Given the description of an element on the screen output the (x, y) to click on. 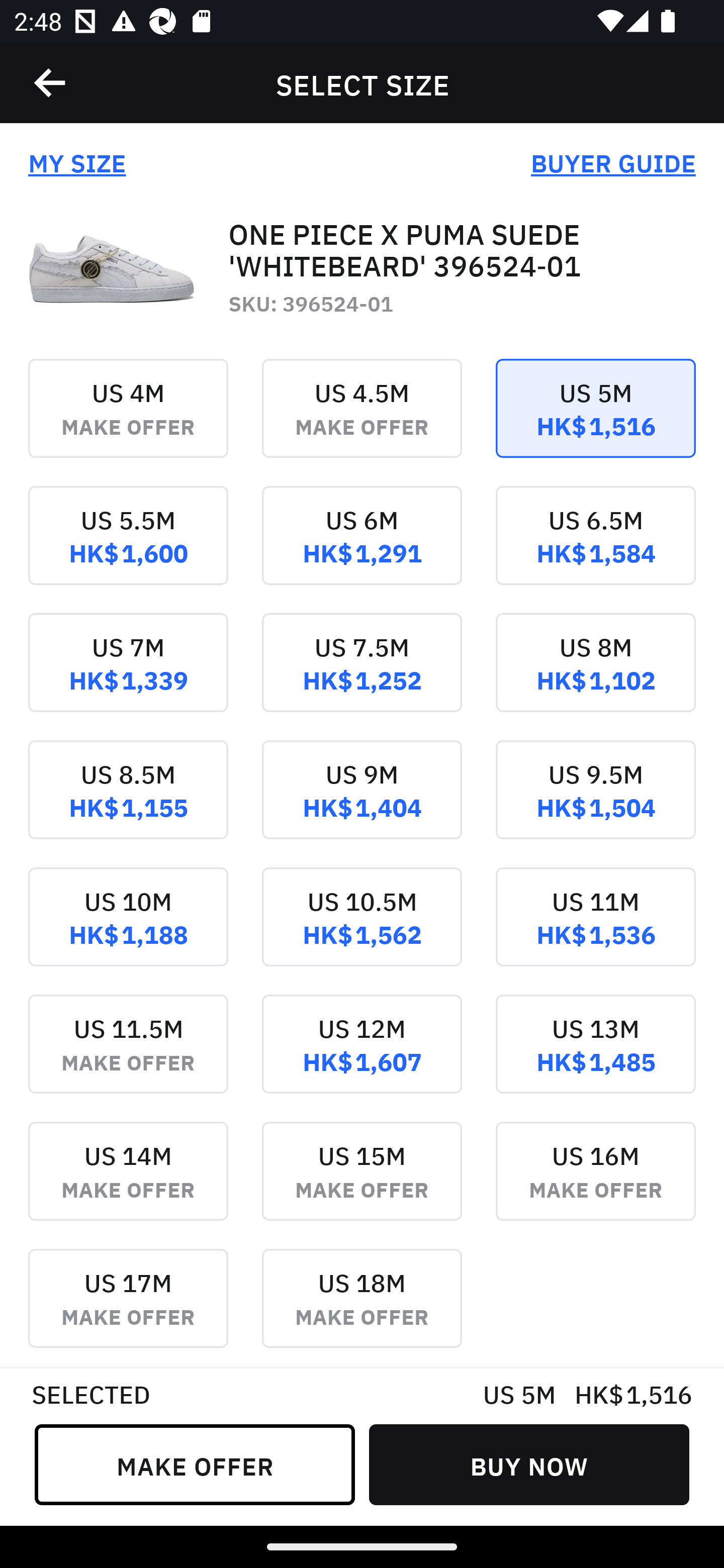
 (50, 83)
US 4M MAKE OFFER (128, 422)
US 4.5M MAKE OFFER (361, 422)
US 5M HK$ 1,516 (595, 422)
US 5.5M HK$ 1,600 (128, 549)
US 6M HK$ 1,291 (361, 549)
US 6.5M HK$ 1,584 (595, 549)
US 7M HK$ 1,339 (128, 676)
US 7.5M HK$ 1,252 (361, 676)
US 8M HK$ 1,102 (595, 676)
US 8.5M HK$ 1,155 (128, 803)
US 9M HK$ 1,404 (361, 803)
US 9.5M HK$ 1,504 (595, 803)
US 10M HK$ 1,188 (128, 930)
US 10.5M HK$ 1,562 (361, 930)
US 11M HK$ 1,536 (595, 930)
US 11.5M MAKE OFFER (128, 1057)
US 12M HK$ 1,607 (361, 1057)
US 13M HK$ 1,485 (595, 1057)
US 14M MAKE OFFER (128, 1184)
US 15M MAKE OFFER (361, 1184)
US 16M MAKE OFFER (595, 1184)
US 17M MAKE OFFER (128, 1306)
US 18M MAKE OFFER (361, 1306)
MAKE OFFER (194, 1464)
BUY NOW (529, 1464)
